Given the description of an element on the screen output the (x, y) to click on. 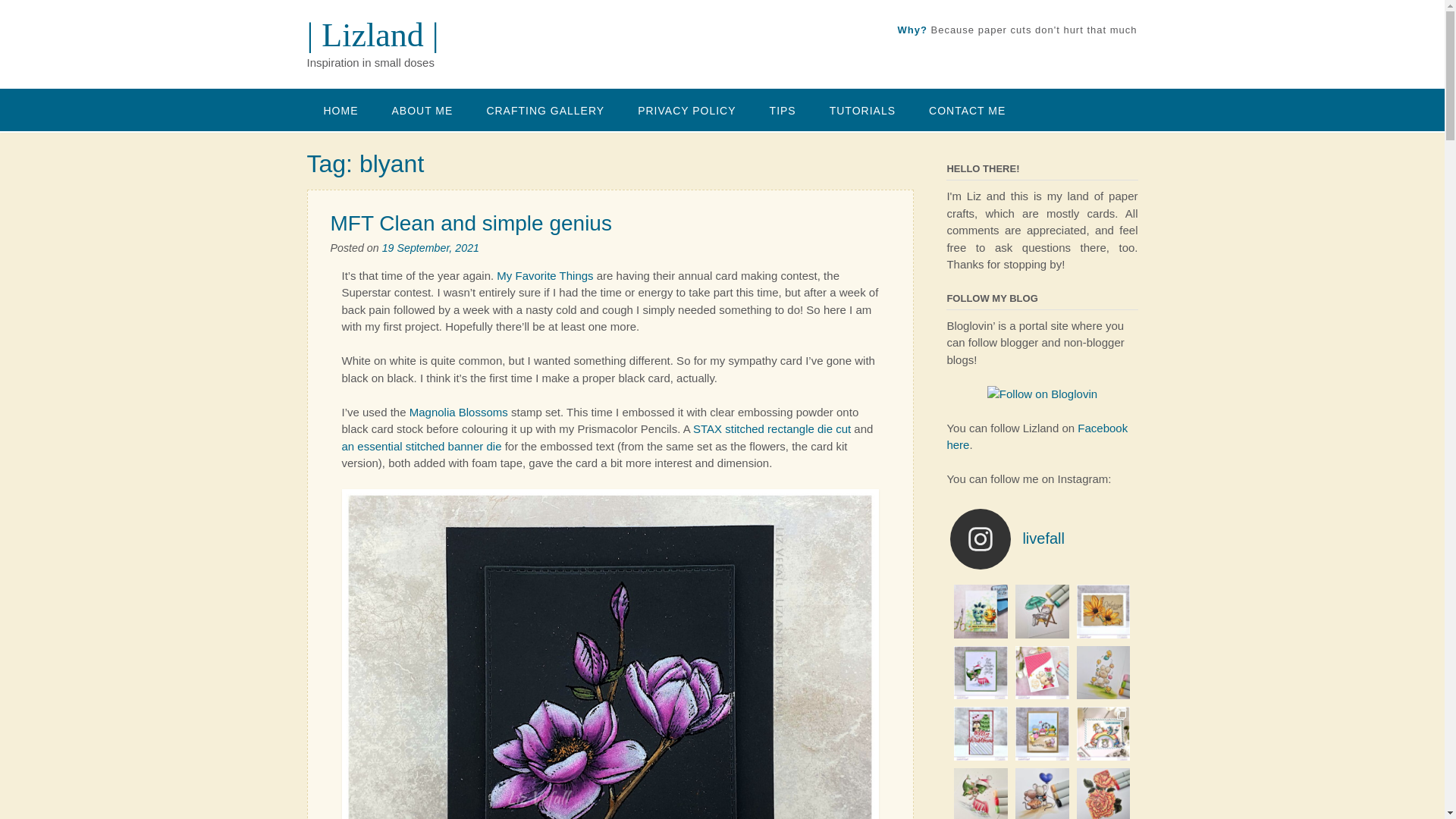
CONTACT ME (967, 109)
ABOUT ME (421, 109)
TUTORIALS (862, 109)
STAX stitched rectangle die cut (771, 428)
My Favorite Things (544, 275)
an essential stitched banner die (420, 445)
Magnolia Blossoms (458, 411)
Follow Lizland on Bloglovin (1042, 392)
TIPS (782, 109)
CRAFTING GALLERY (544, 109)
PRIVACY POLICY (686, 109)
19 September, 2021 (430, 247)
HOME (339, 109)
MFT Clean and simple genius (470, 223)
